Given the description of an element on the screen output the (x, y) to click on. 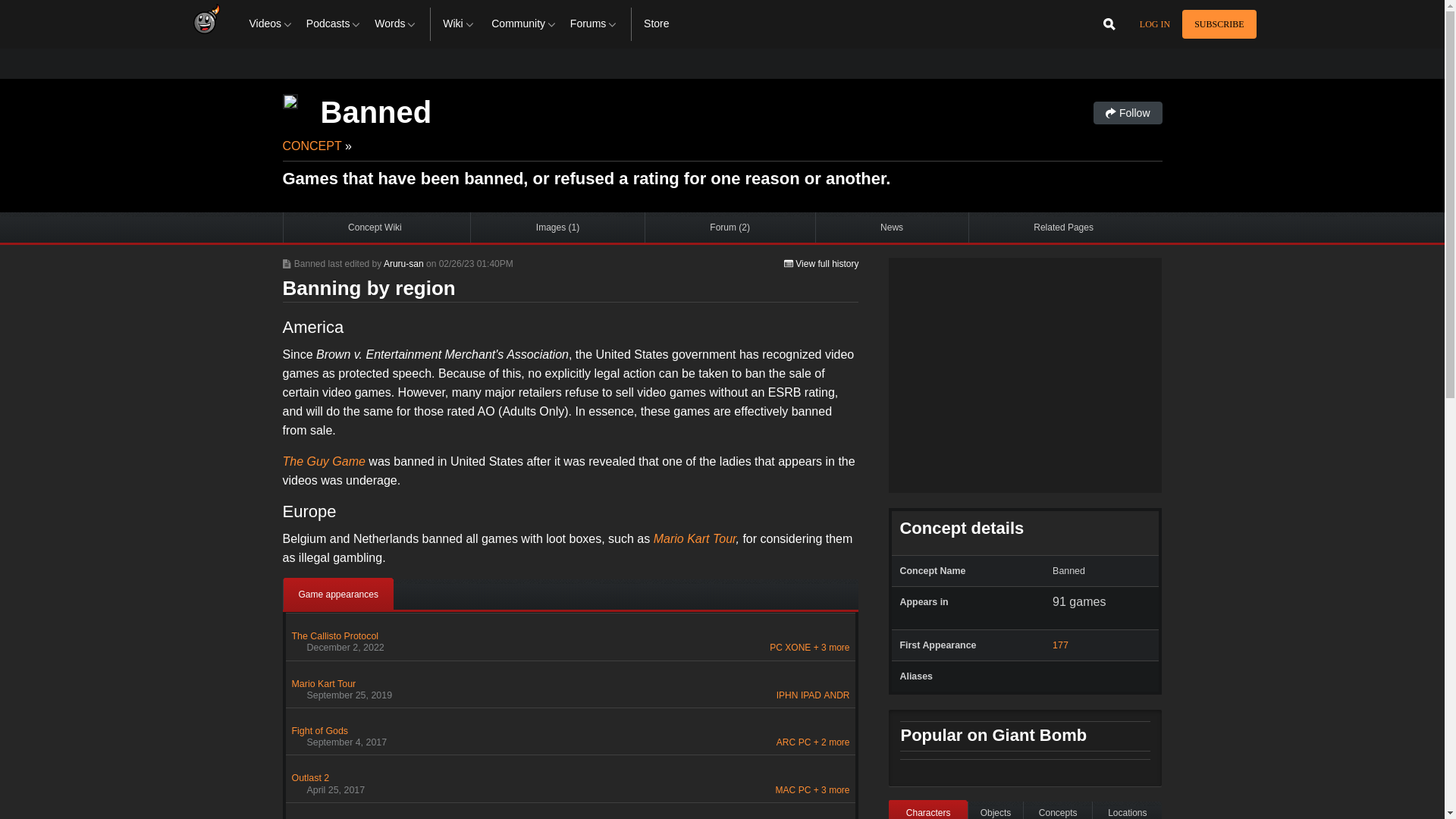
Words (395, 24)
Podcasts (333, 24)
Videos (271, 24)
